Given the description of an element on the screen output the (x, y) to click on. 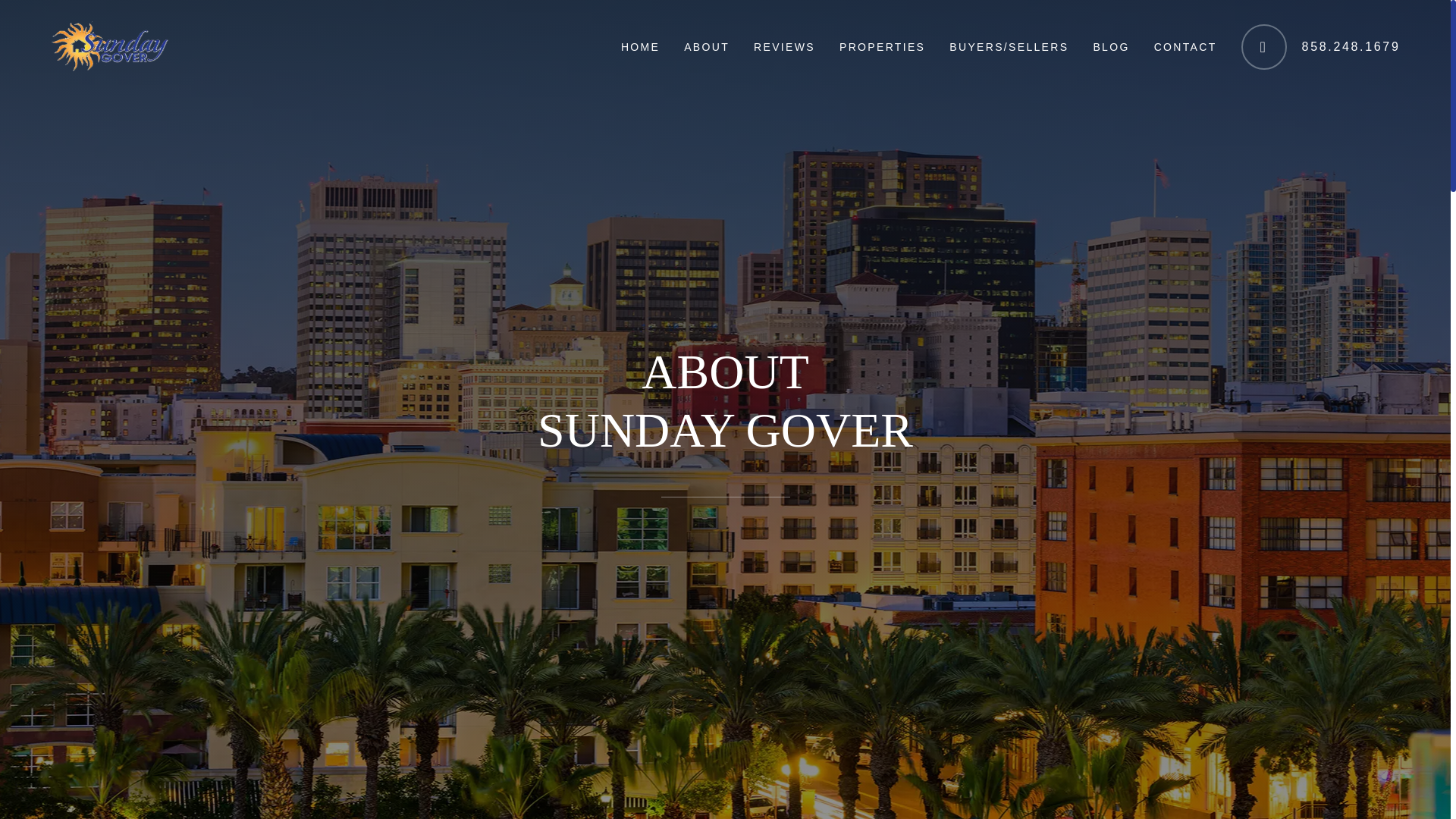
CONTACT (1184, 46)
858.248.1679 (1320, 46)
REVIEWS (784, 46)
PROPERTIES (882, 46)
ABOUT (706, 46)
BLOG (1110, 46)
HOME (639, 46)
